Given the description of an element on the screen output the (x, y) to click on. 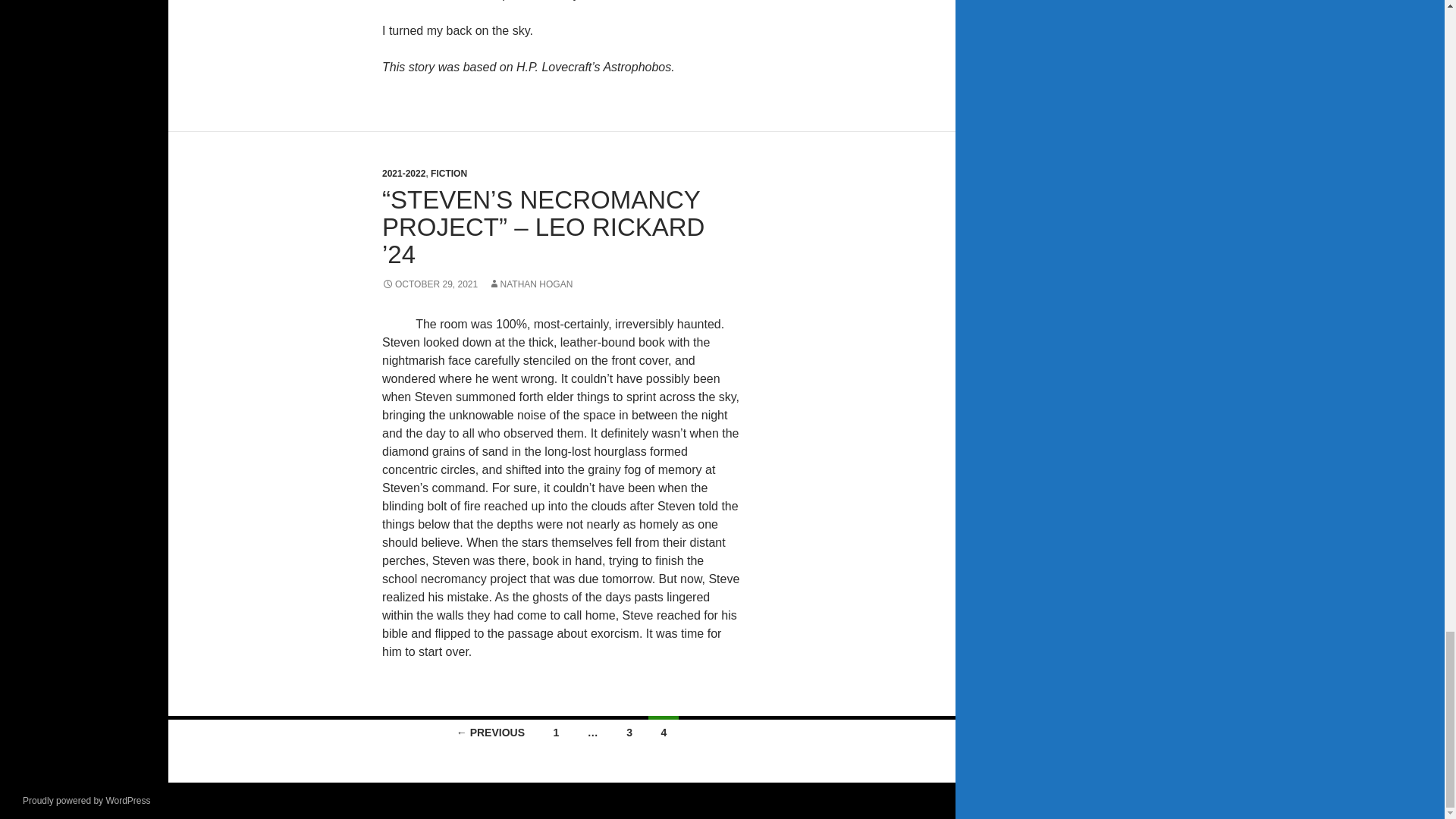
1 (555, 730)
OCTOBER 29, 2021 (429, 284)
FICTION (448, 173)
2021-2022 (403, 173)
NATHAN HOGAN (530, 284)
3 (629, 730)
